Given the description of an element on the screen output the (x, y) to click on. 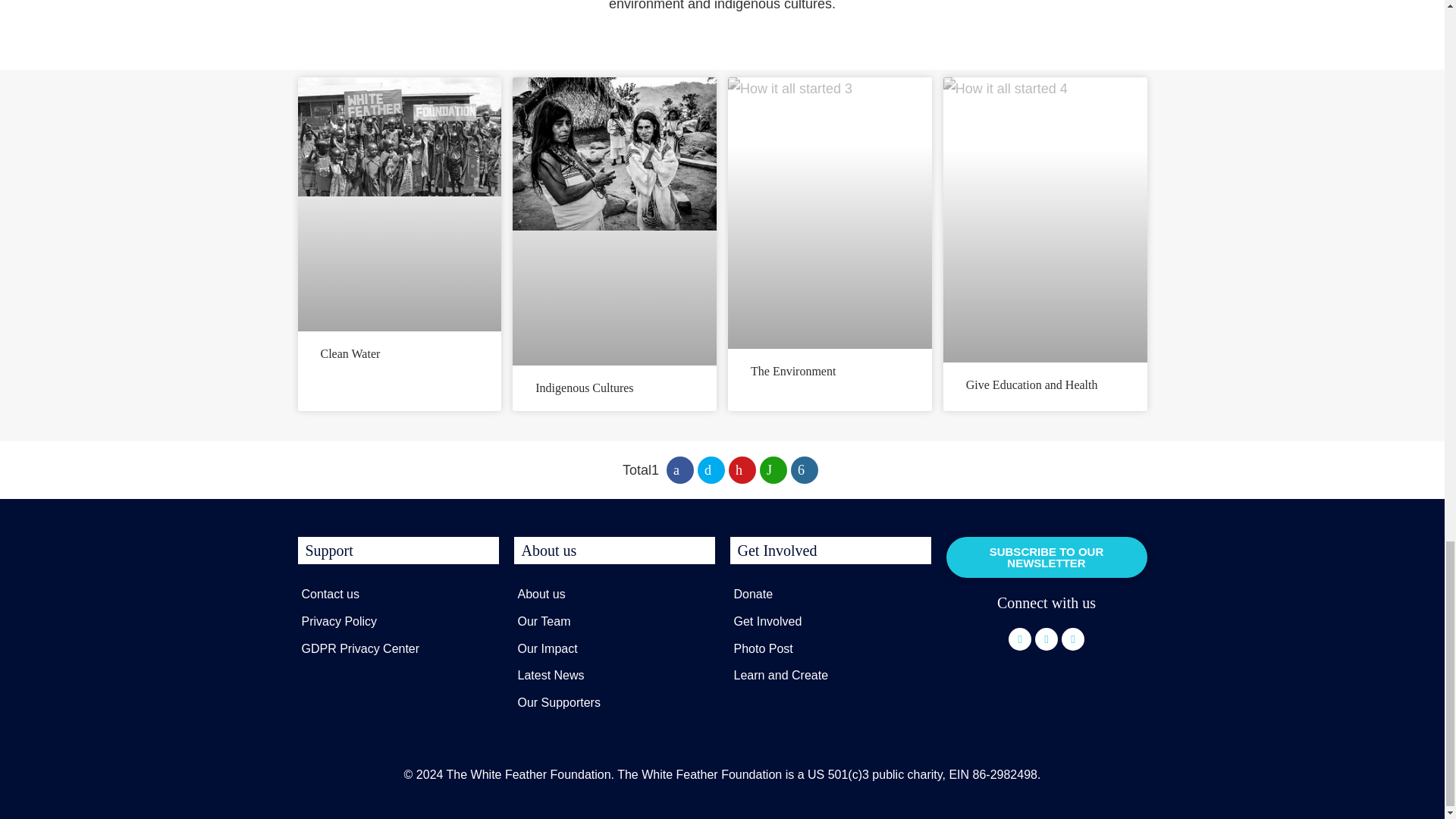
Total (641, 469)
Share on Pinterest (742, 470)
Share on Twitter (711, 470)
Share on WhatsApp (773, 470)
Share on Facebook (680, 470)
Share on Share (804, 470)
